Given the description of an element on the screen output the (x, y) to click on. 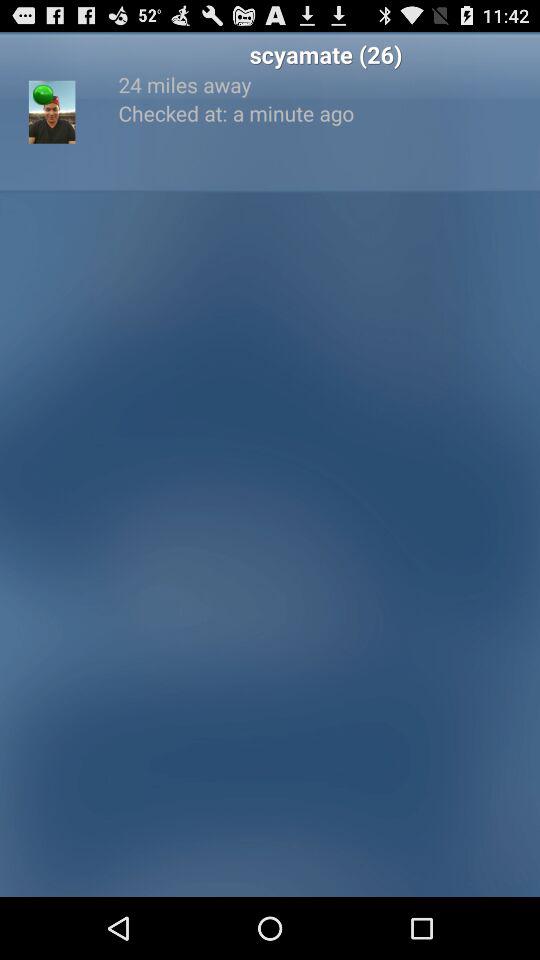
flip to checked at a app (325, 112)
